Given the description of an element on the screen output the (x, y) to click on. 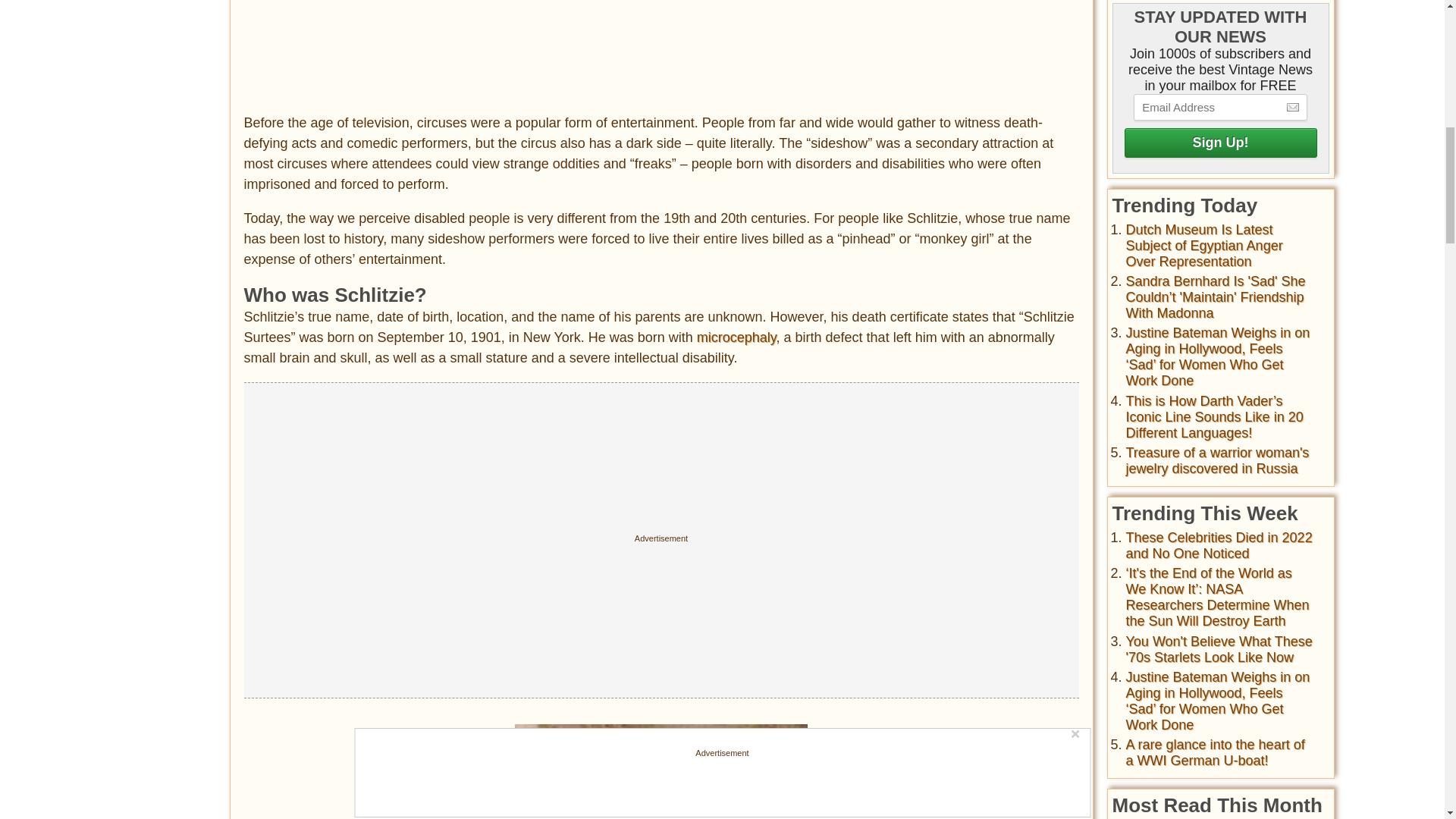
Sign Up! (1220, 142)
